Given the description of an element on the screen output the (x, y) to click on. 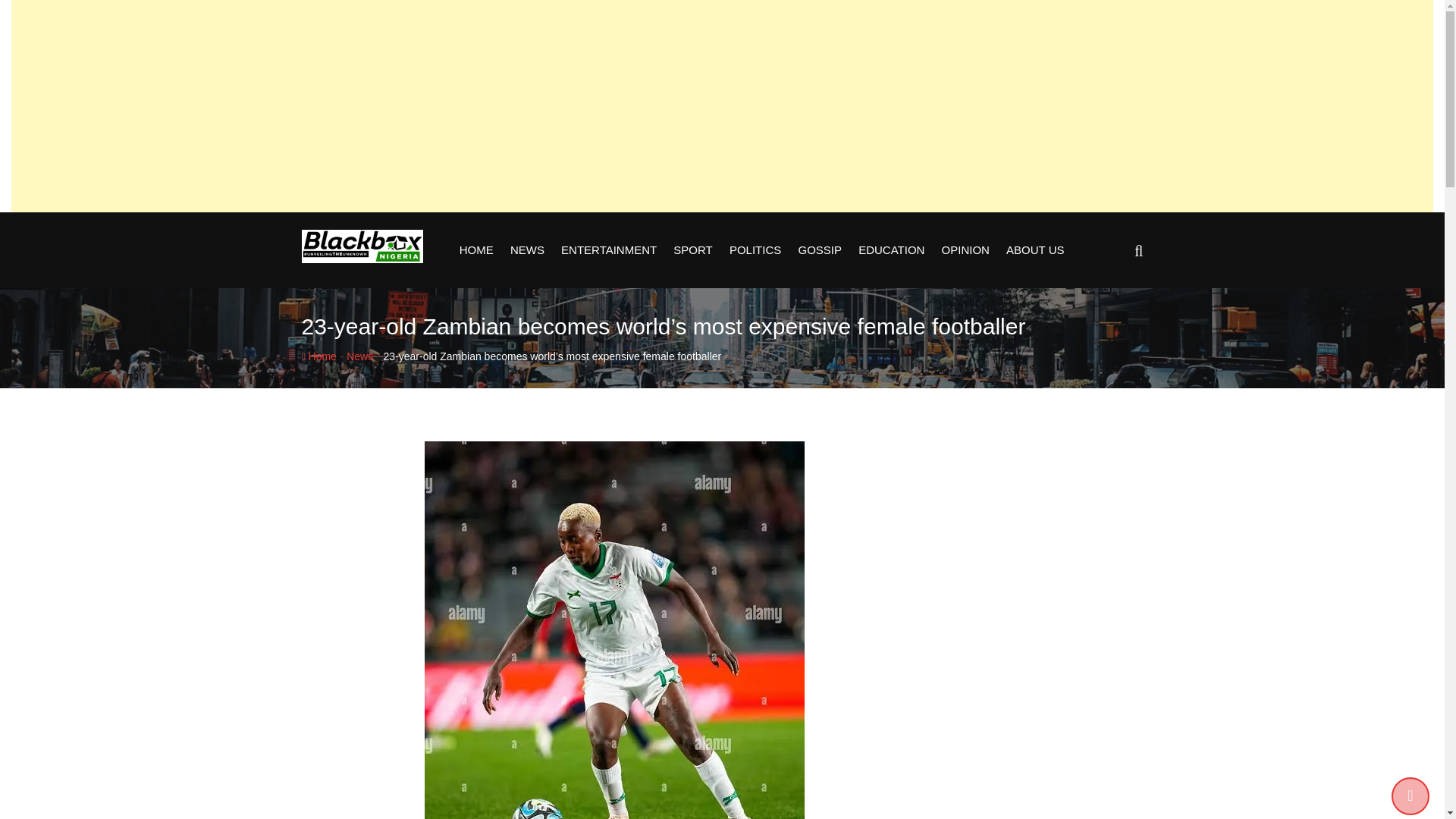
EDUCATION (891, 250)
Home (318, 356)
ENTERTAINMENT (608, 250)
News (359, 356)
ABOUT US (1034, 250)
